Given the description of an element on the screen output the (x, y) to click on. 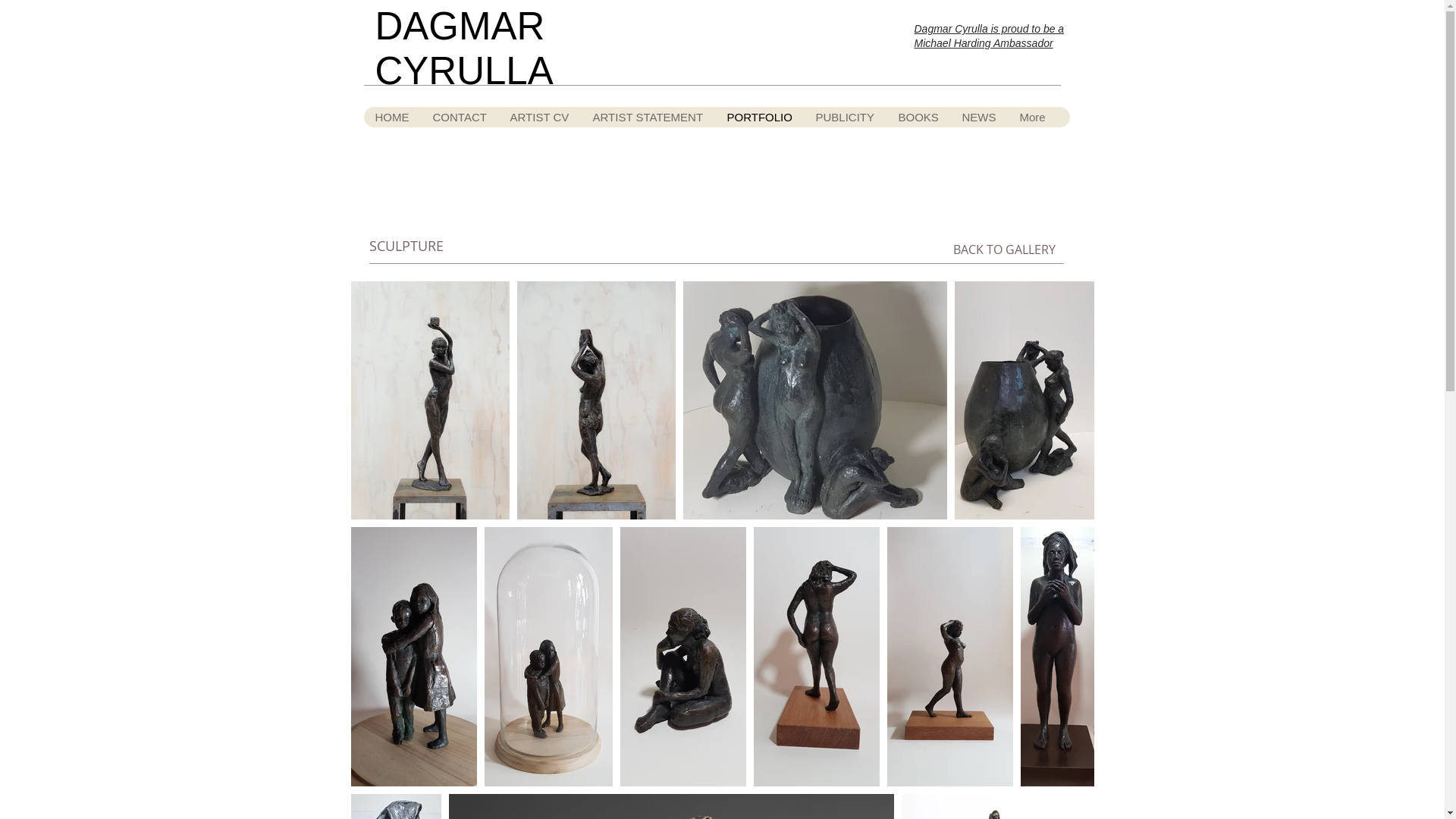
PORTFOLIO Element type: text (758, 116)
Dagmar Cyrulla is proud to be a Michael Harding Ambassador Element type: text (989, 35)
ARTIST STATEMENT Element type: text (647, 116)
PUBLICITY Element type: text (844, 116)
NEWS Element type: text (978, 116)
BACK TO GALLERY Element type: text (1003, 249)
ARTIST CV Element type: text (538, 116)
HOME Element type: text (392, 116)
CONTACT Element type: text (458, 116)
BOOKS Element type: text (917, 116)
